Given the description of an element on the screen output the (x, y) to click on. 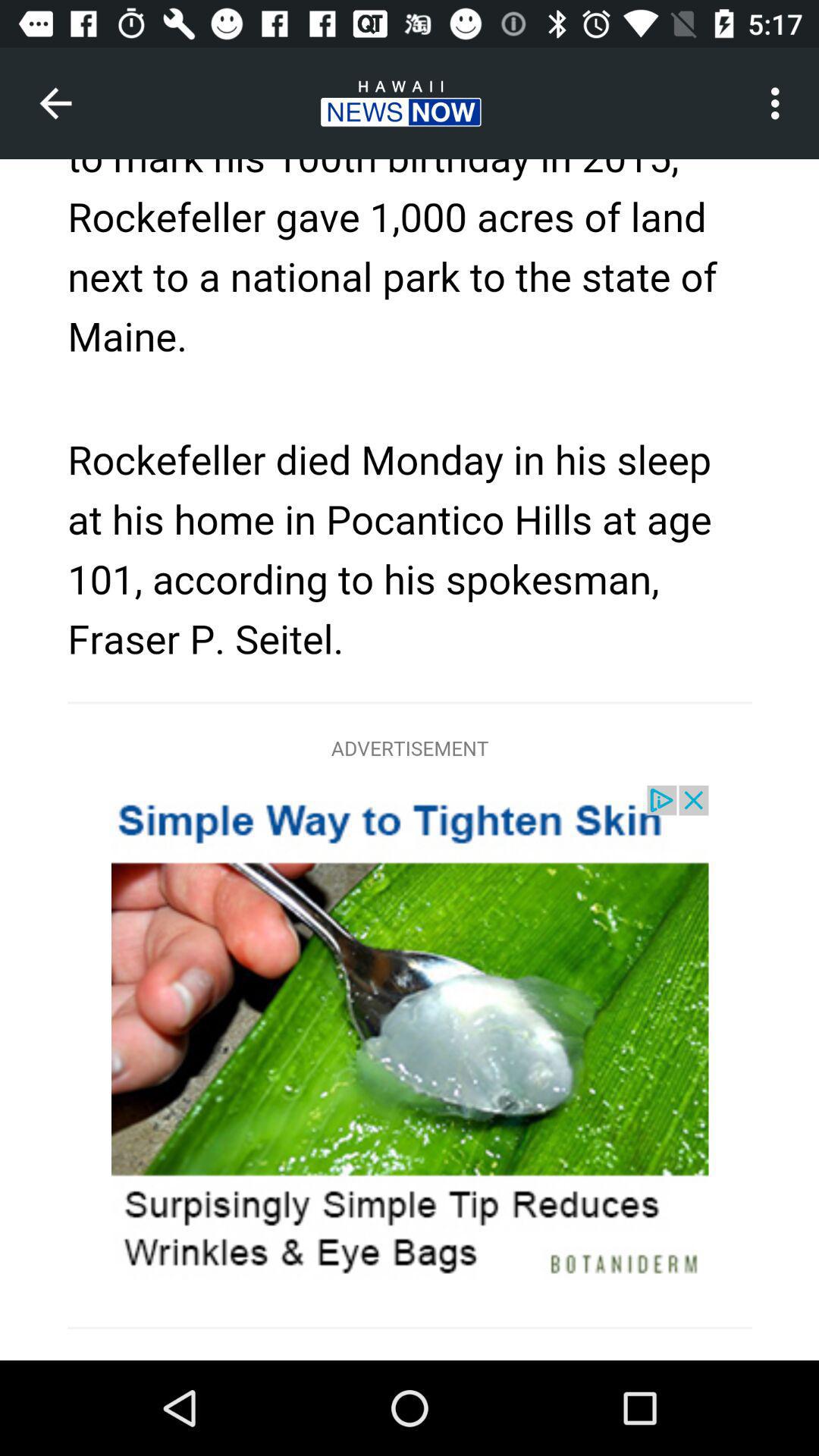
adversemend (409, 759)
